Given the description of an element on the screen output the (x, y) to click on. 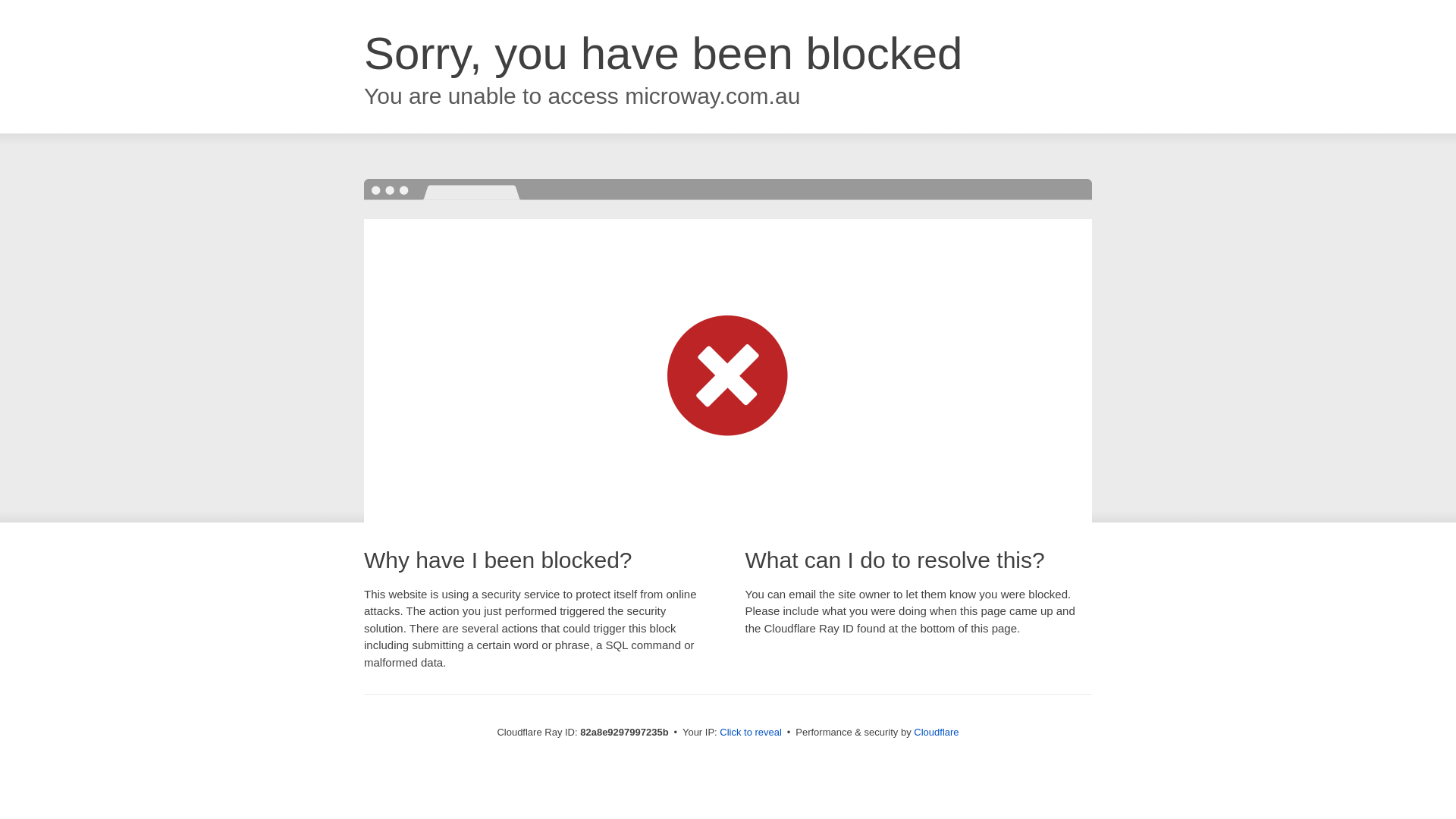
Cloudflare Element type: text (935, 731)
Click to reveal Element type: text (750, 732)
